Given the description of an element on the screen output the (x, y) to click on. 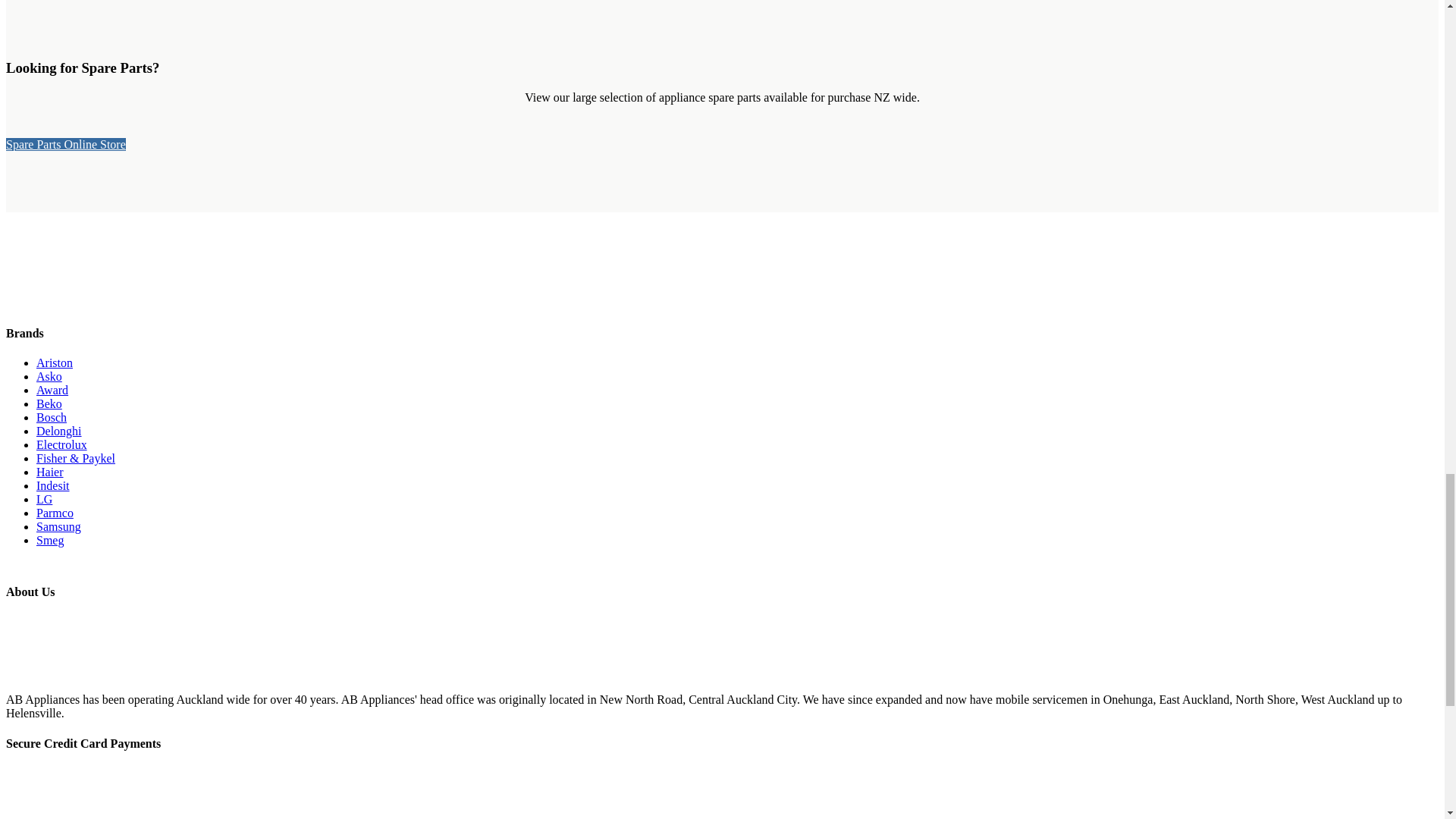
Buy spare parts online NZ wide (65, 144)
